Given the description of an element on the screen output the (x, y) to click on. 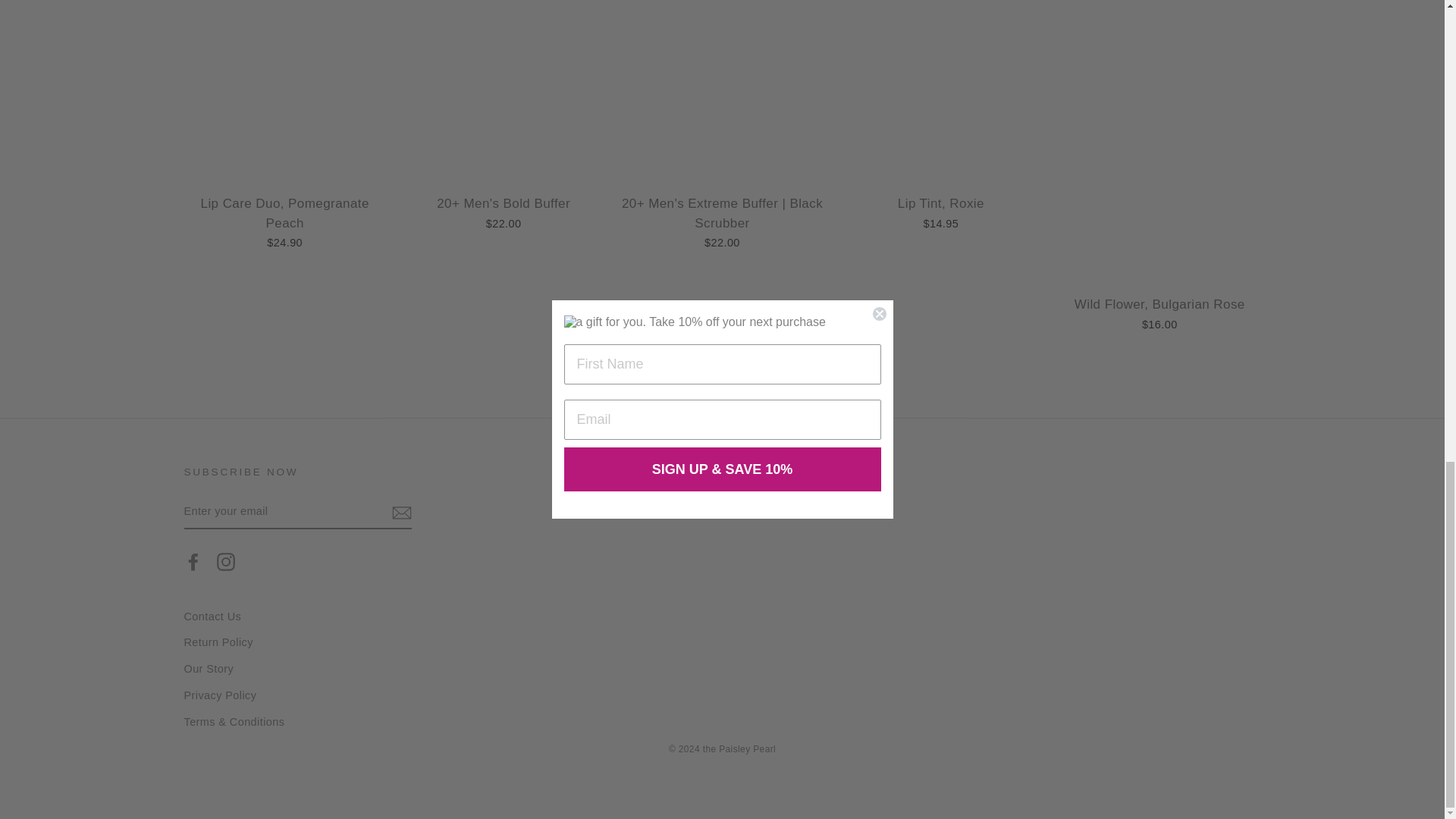
the Paisley Pearl on Facebook (192, 561)
the Paisley Pearl on Instagram (225, 561)
